Given the description of an element on the screen output the (x, y) to click on. 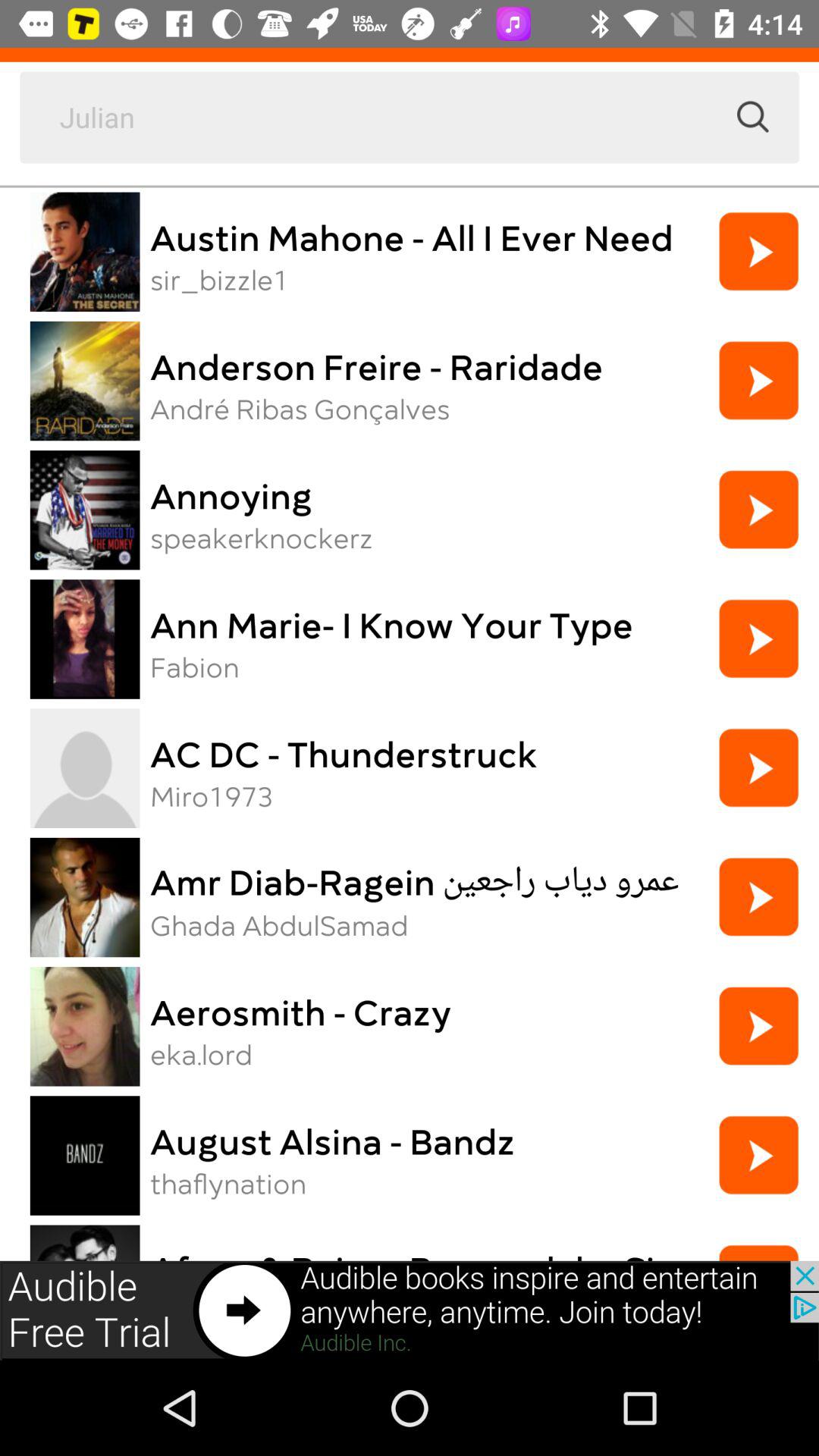
open advertisement (409, 1310)
